Given the description of an element on the screen output the (x, y) to click on. 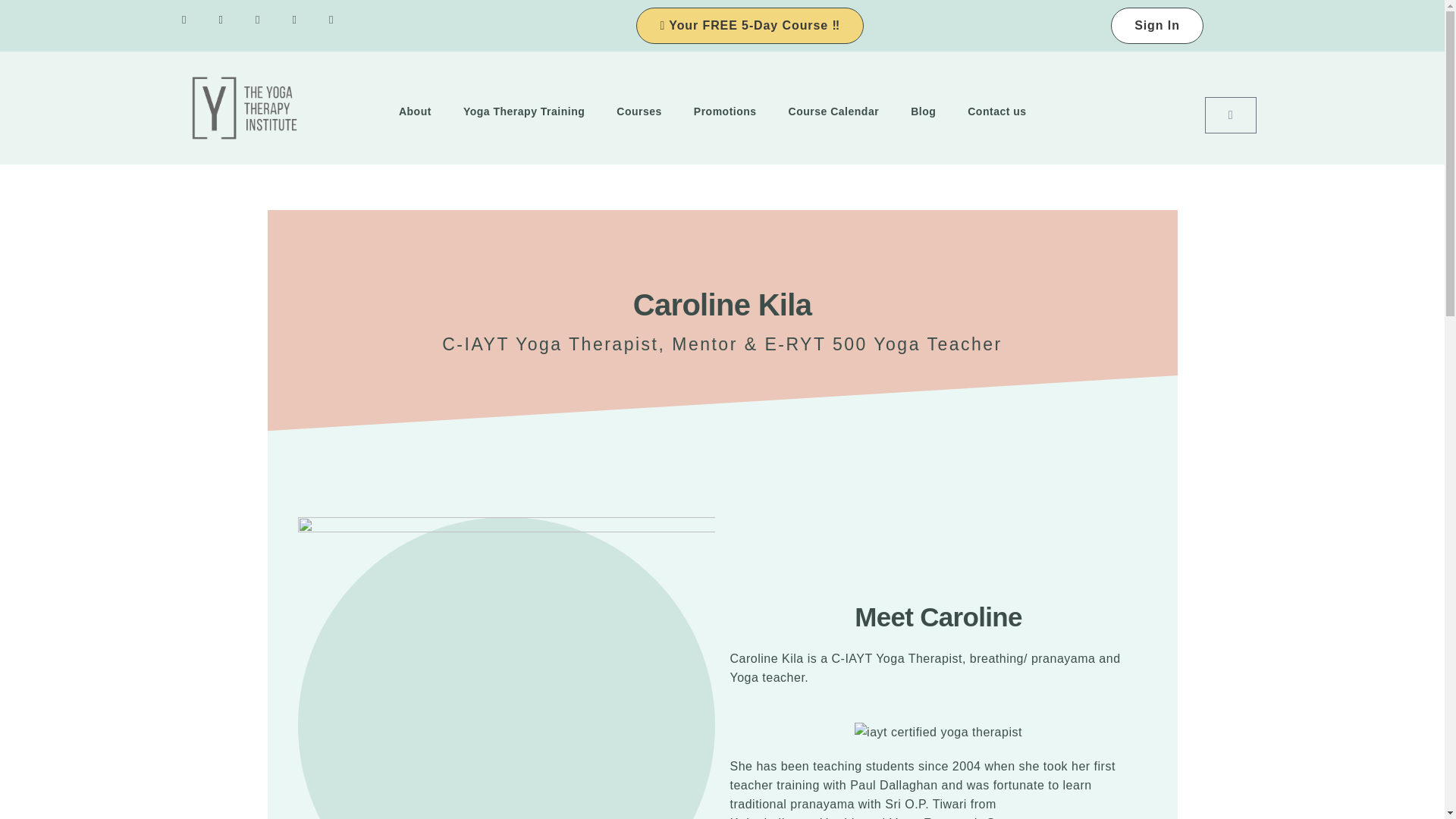
Youtube (226, 25)
Sign In (1157, 25)
Yoga Therapy Training (524, 111)
Course Calendar (834, 111)
Courses (638, 111)
Facebook-f (263, 25)
Promotions (725, 111)
Linkedin-in (337, 25)
Blog (923, 111)
Instagram (190, 25)
